Given the description of an element on the screen output the (x, y) to click on. 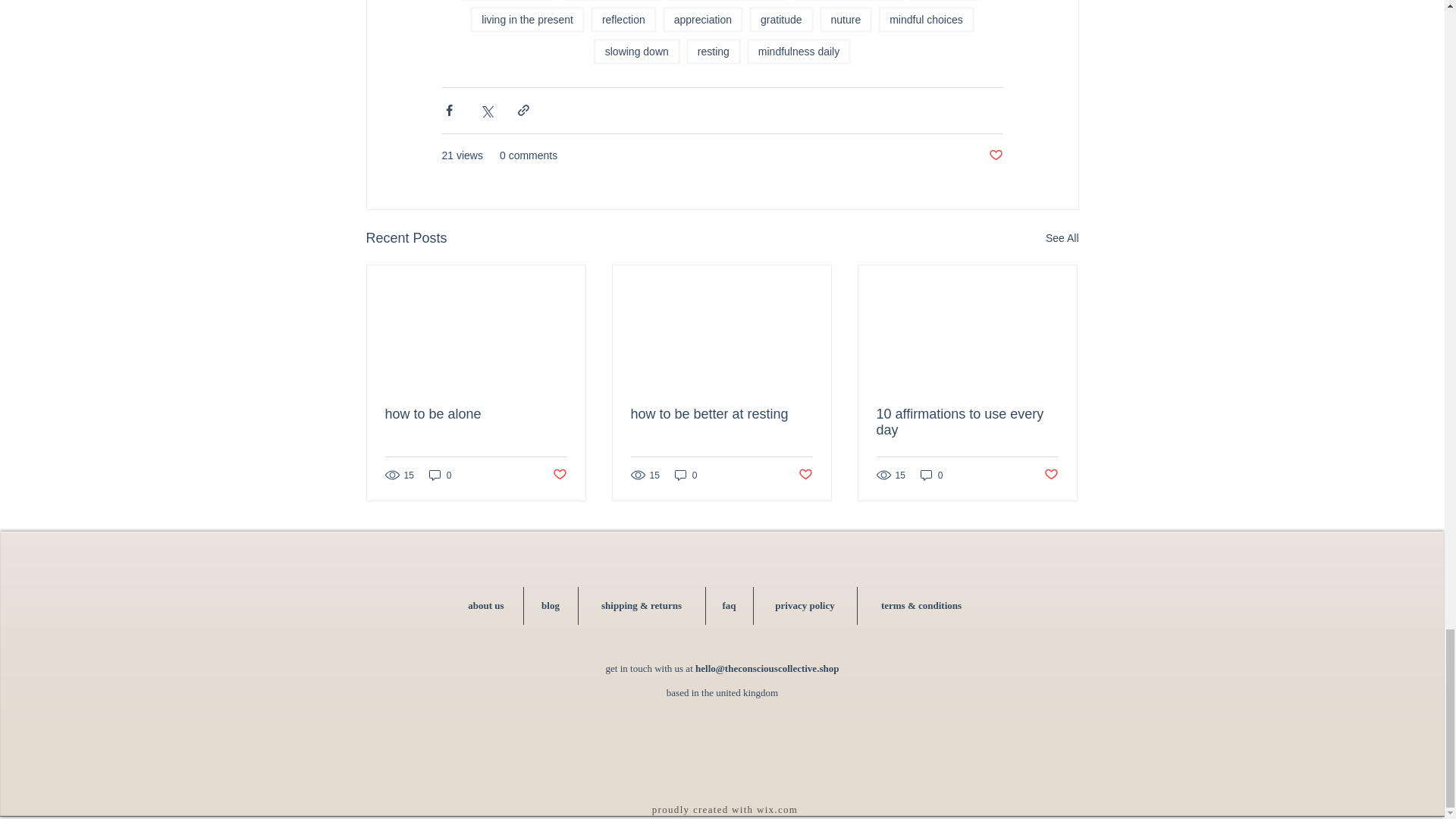
Post not marked as liked (995, 155)
nuture (845, 19)
gratitude (780, 19)
mindful choices (925, 19)
mindfulness daily (798, 51)
resting (713, 51)
living in the present (527, 19)
slowing down (636, 51)
appreciation (702, 19)
reflection (623, 19)
